Given the description of an element on the screen output the (x, y) to click on. 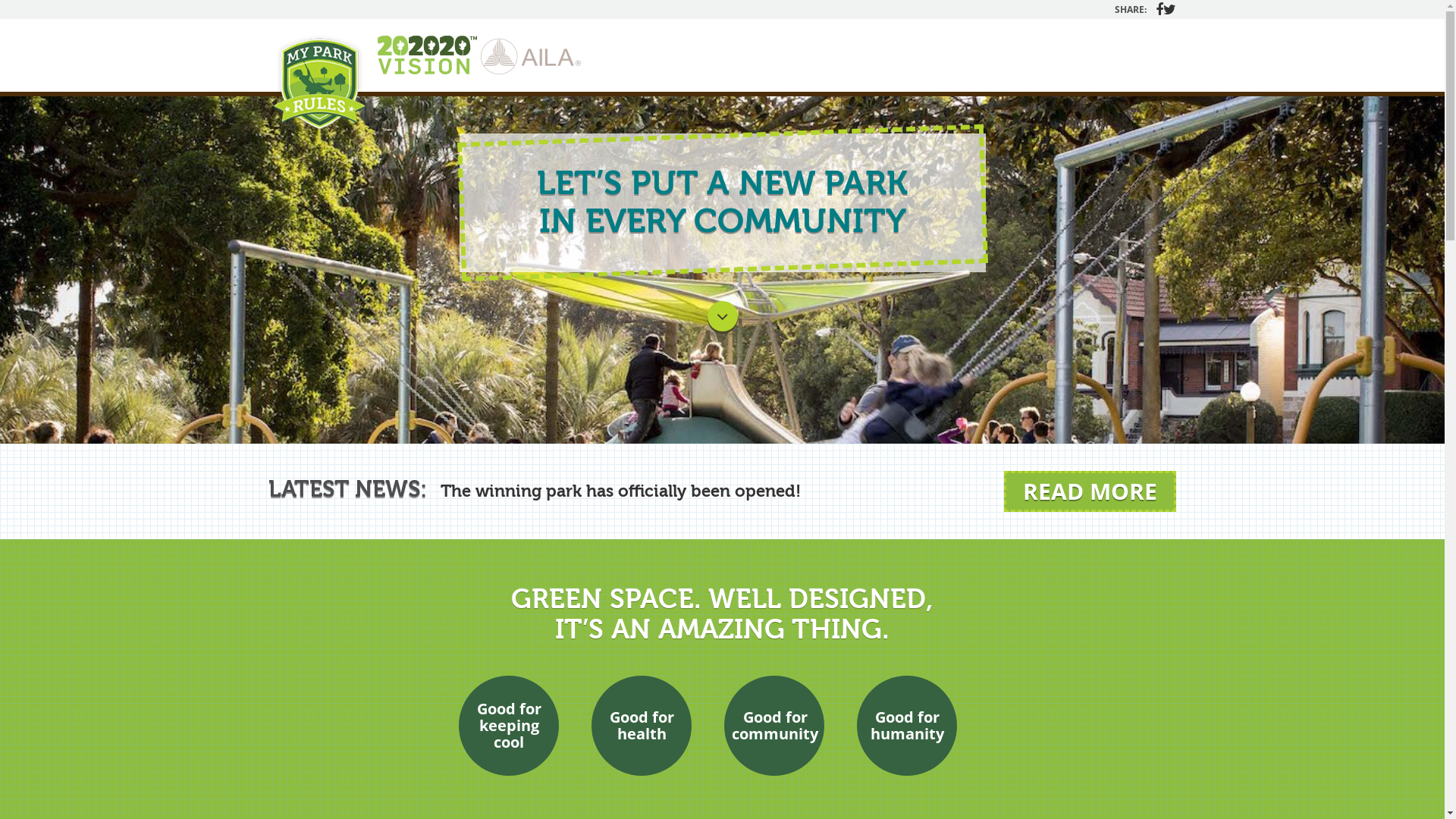
My Park Rules Element type: hover (319, 86)
READ MORE Element type: text (1090, 490)
The winning park has officially been opened! Element type: text (620, 491)
